Given the description of an element on the screen output the (x, y) to click on. 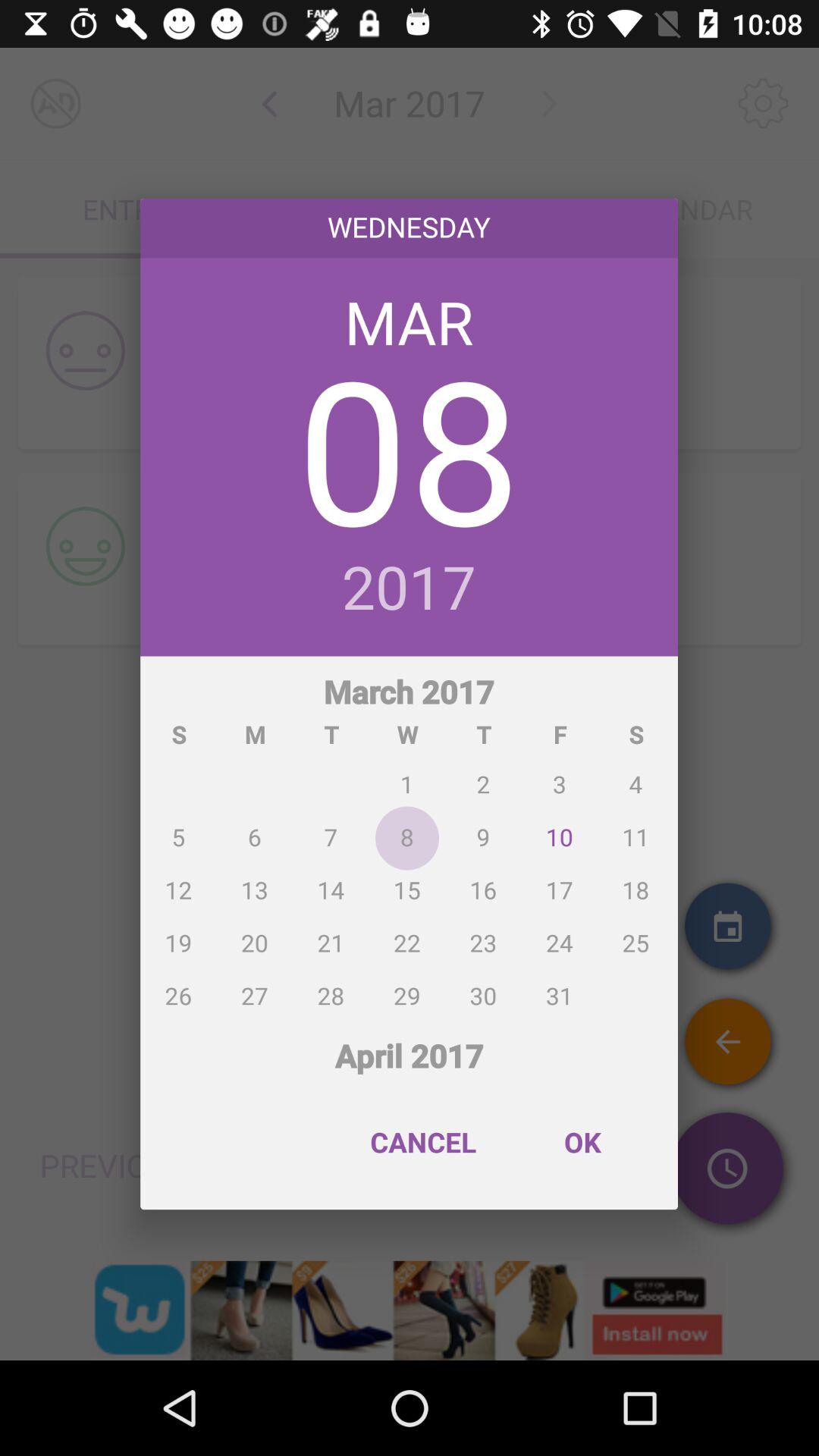
open the 2017 icon (408, 589)
